Given the description of an element on the screen output the (x, y) to click on. 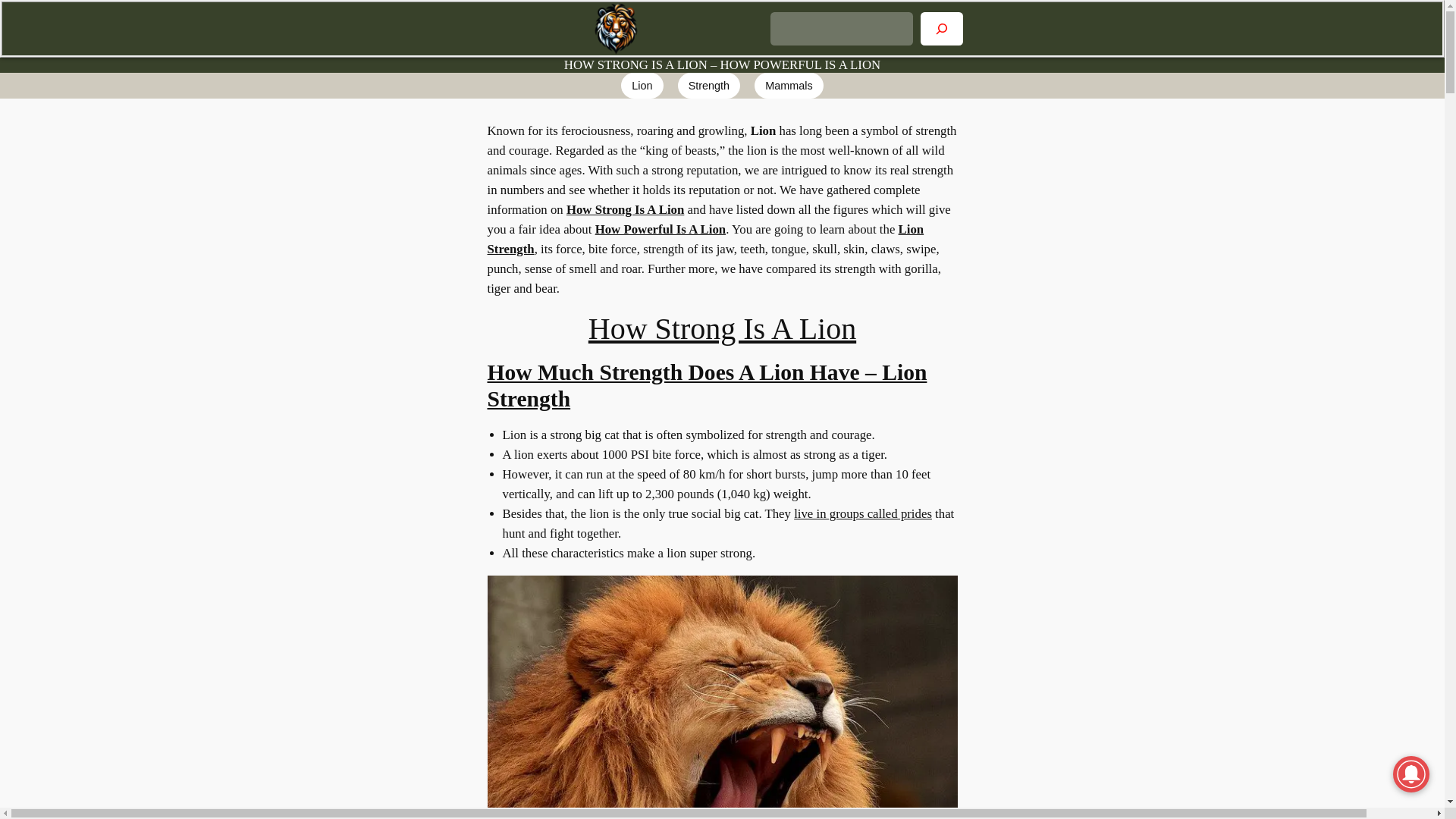
Lion (641, 85)
Strength (708, 85)
Mammals (788, 85)
live in groups called prides (862, 513)
